Given the description of an element on the screen output the (x, y) to click on. 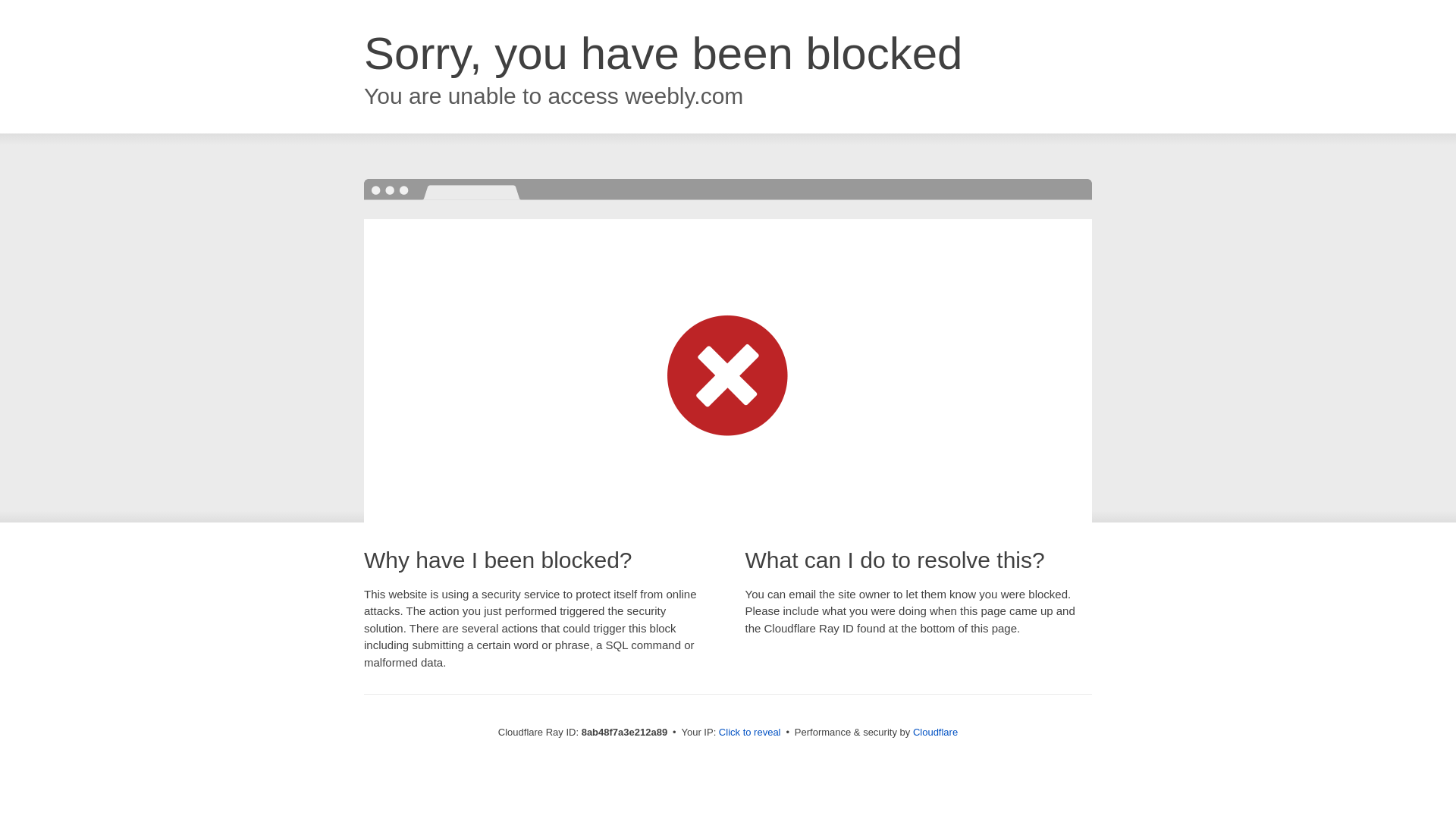
Click to reveal (749, 732)
Cloudflare (935, 731)
